Given the description of an element on the screen output the (x, y) to click on. 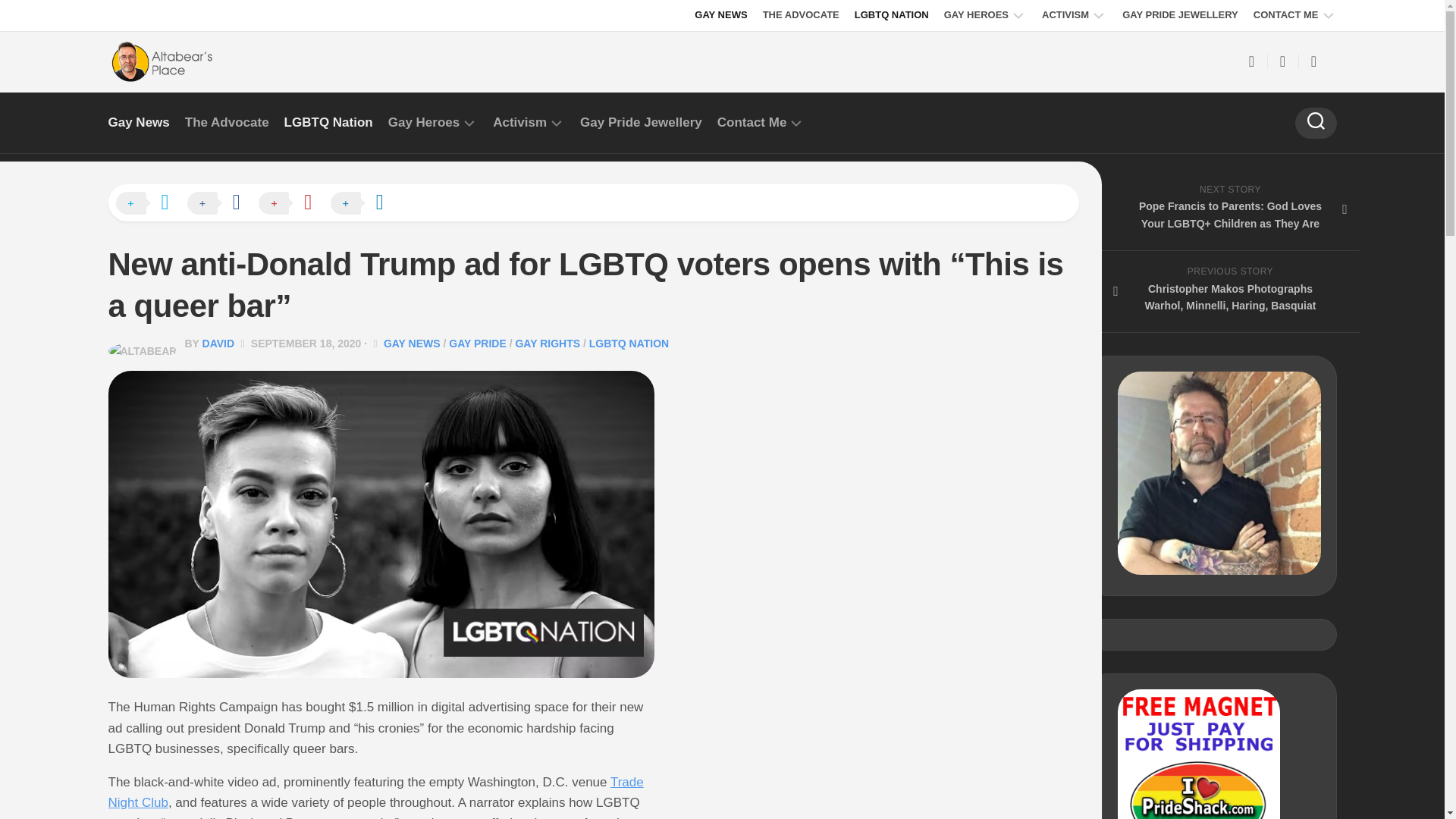
GAY PRIDE JEWELLERY (1180, 14)
Share on Facebook (221, 203)
Instagram (1313, 61)
Posts by David (218, 343)
Facebook (1251, 61)
THE ADVOCATE (801, 14)
Twitter (1282, 61)
GAY NEWS (720, 14)
Share on Pinterest (292, 203)
ACTIVISM (1065, 14)
